Given the description of an element on the screen output the (x, y) to click on. 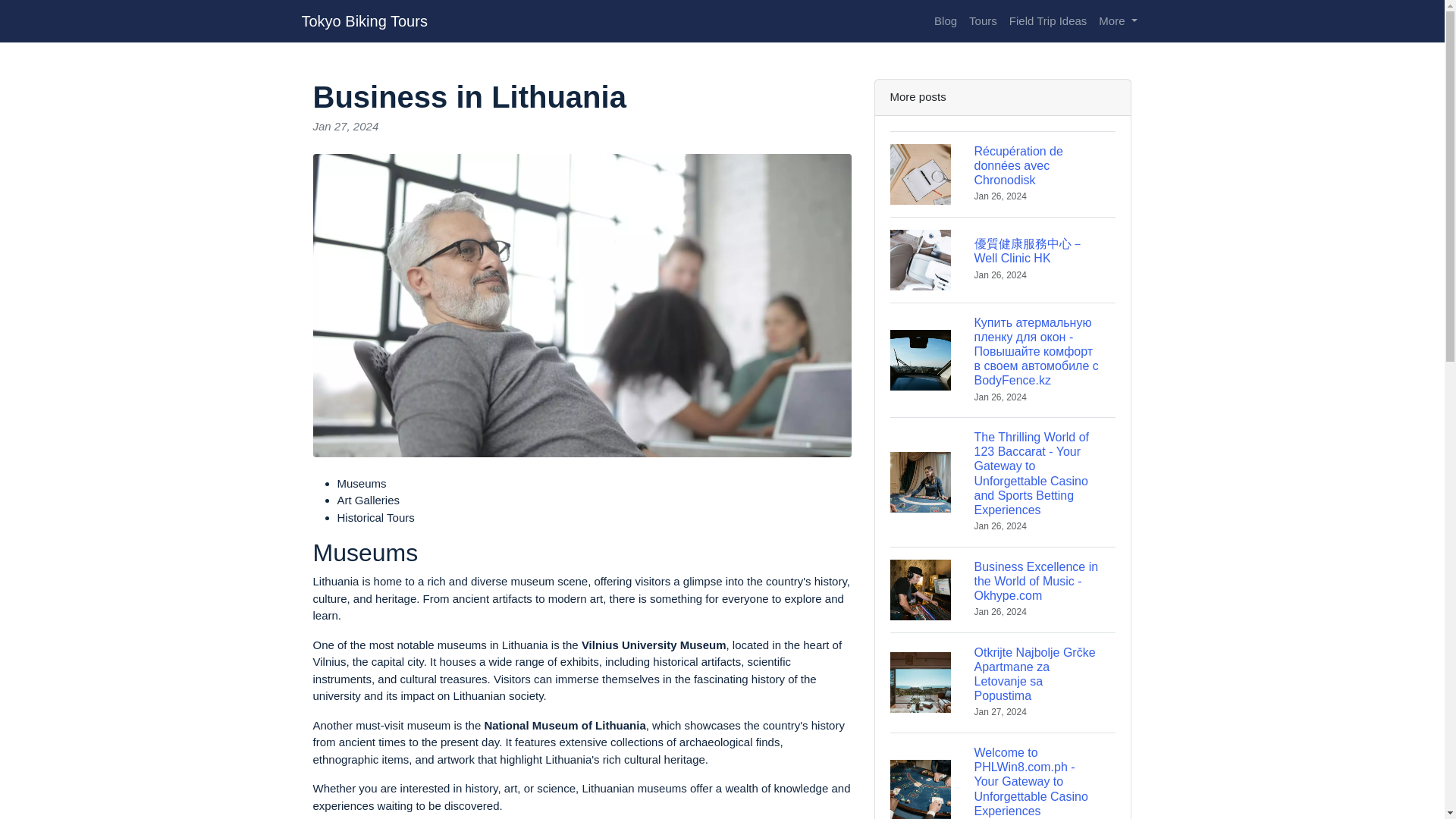
More (1117, 21)
Field Trip Ideas (1048, 21)
Blog (945, 21)
Tokyo Biking Tours (364, 20)
Tours (982, 21)
